Given the description of an element on the screen output the (x, y) to click on. 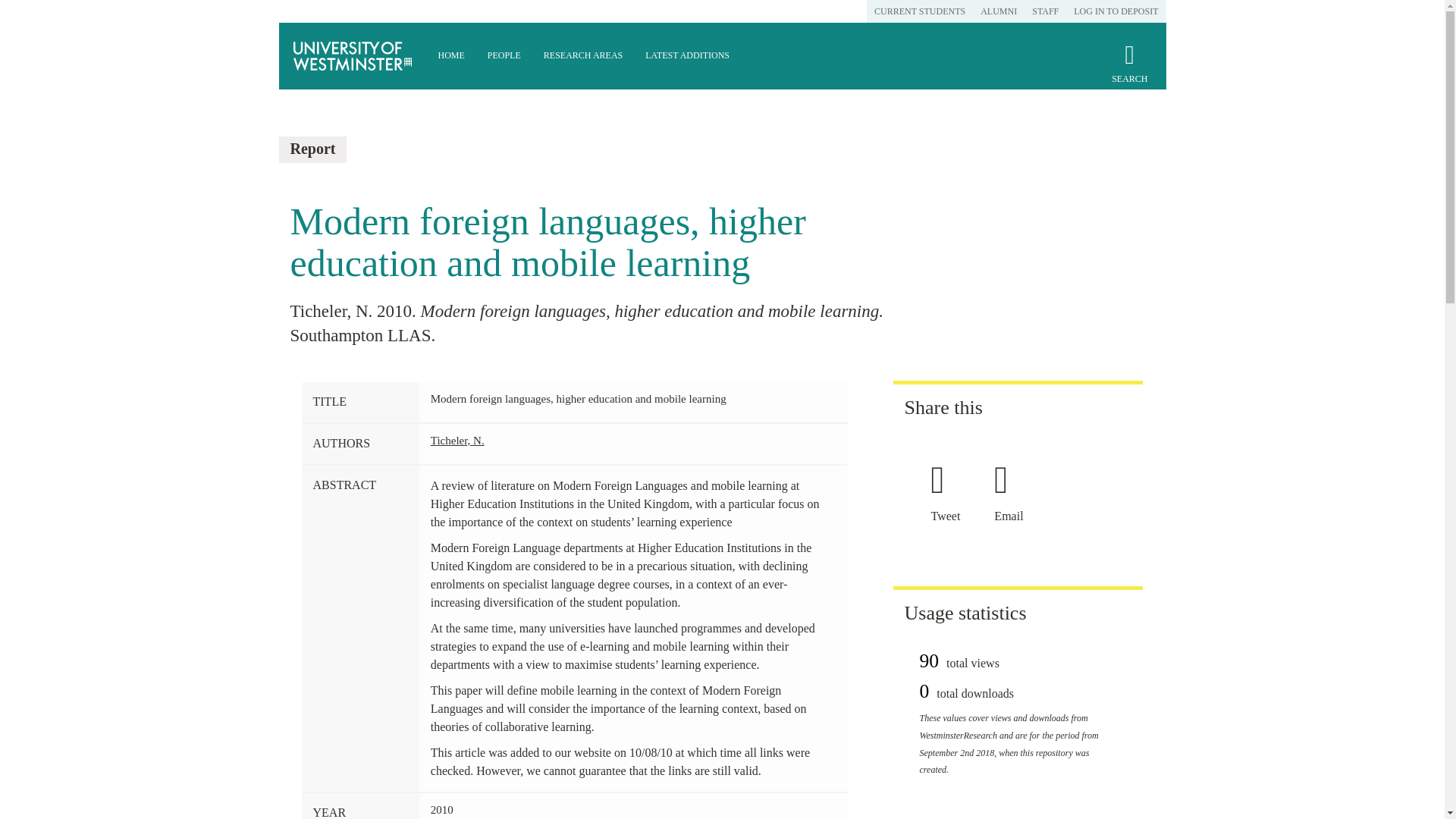
Tweet (950, 515)
Ticheler, N. (457, 440)
RESEARCH AREAS (582, 55)
CURRENT STUDENTS (919, 11)
STAFF (1045, 11)
Email (1013, 515)
LATEST ADDITIONS (687, 55)
LOG IN TO DEPOSIT (1115, 11)
ALUMNI (998, 11)
University of Westminster (352, 55)
SEARCH (1129, 69)
